Given the description of an element on the screen output the (x, y) to click on. 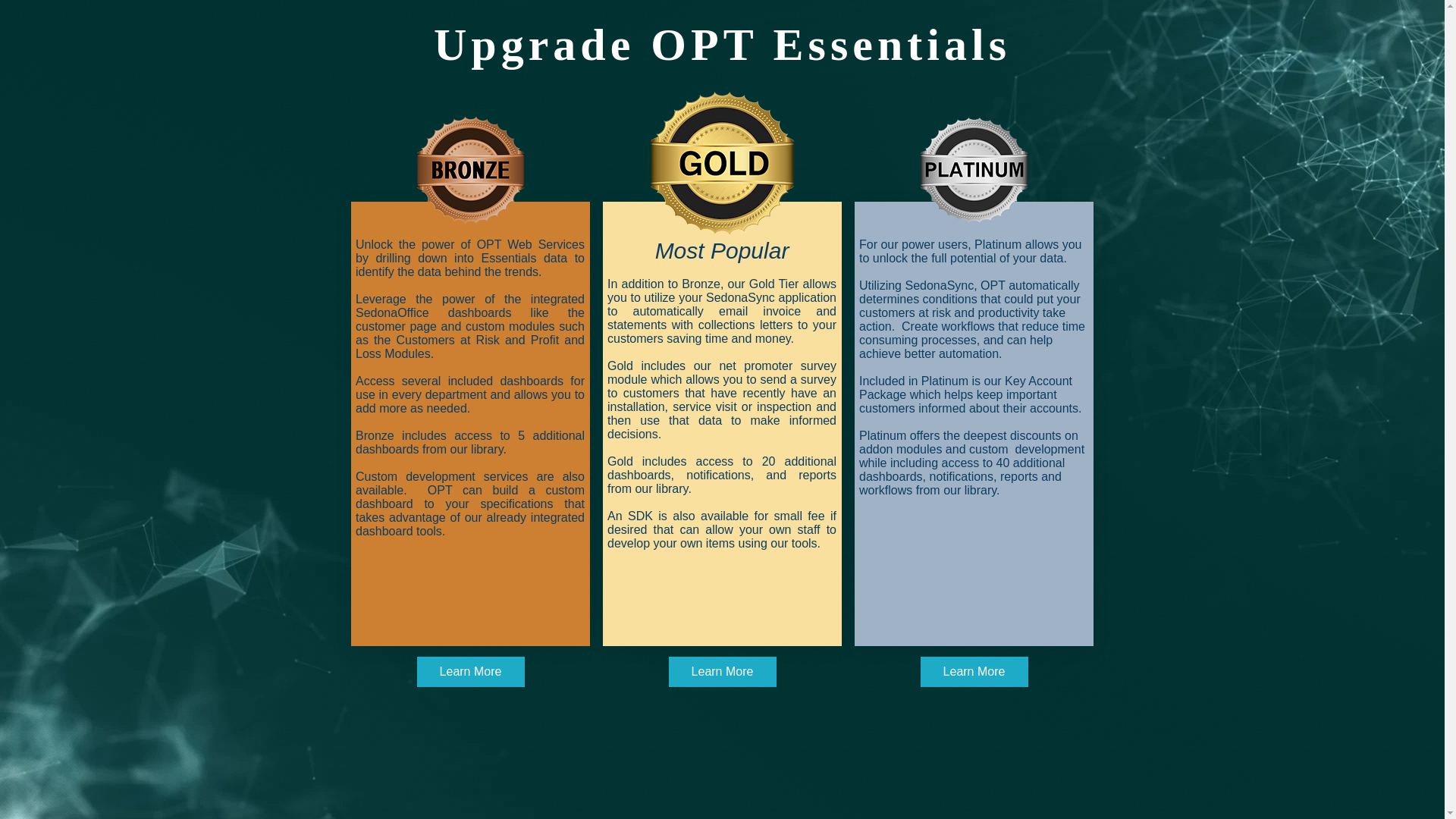
Learn More (973, 671)
Learn More (470, 671)
Learn More (722, 671)
